Given the description of an element on the screen output the (x, y) to click on. 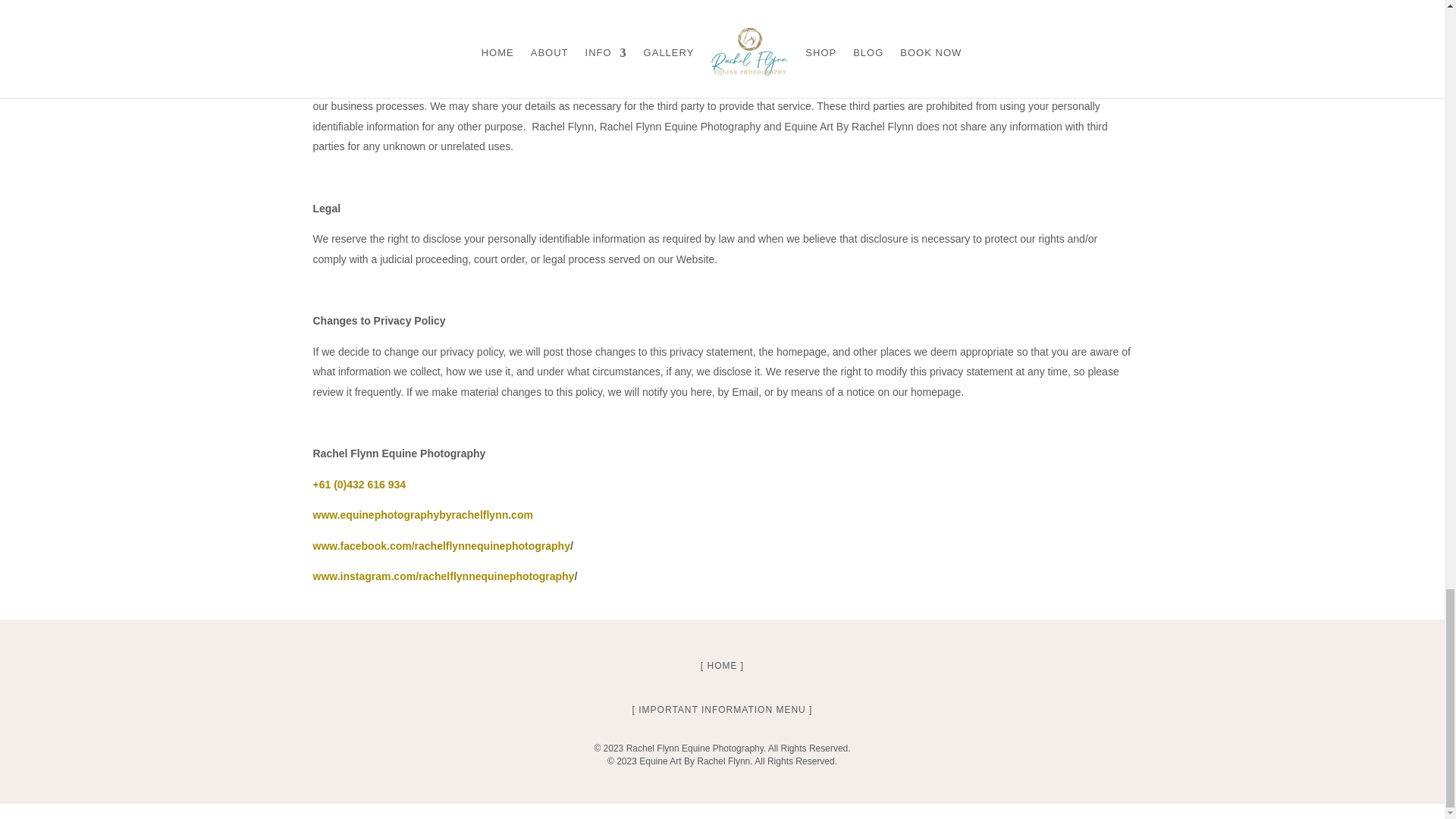
www.equinephotographybyrachelflynn.com (422, 514)
equinephotography (520, 545)
equinephotography (525, 576)
